Given the description of an element on the screen output the (x, y) to click on. 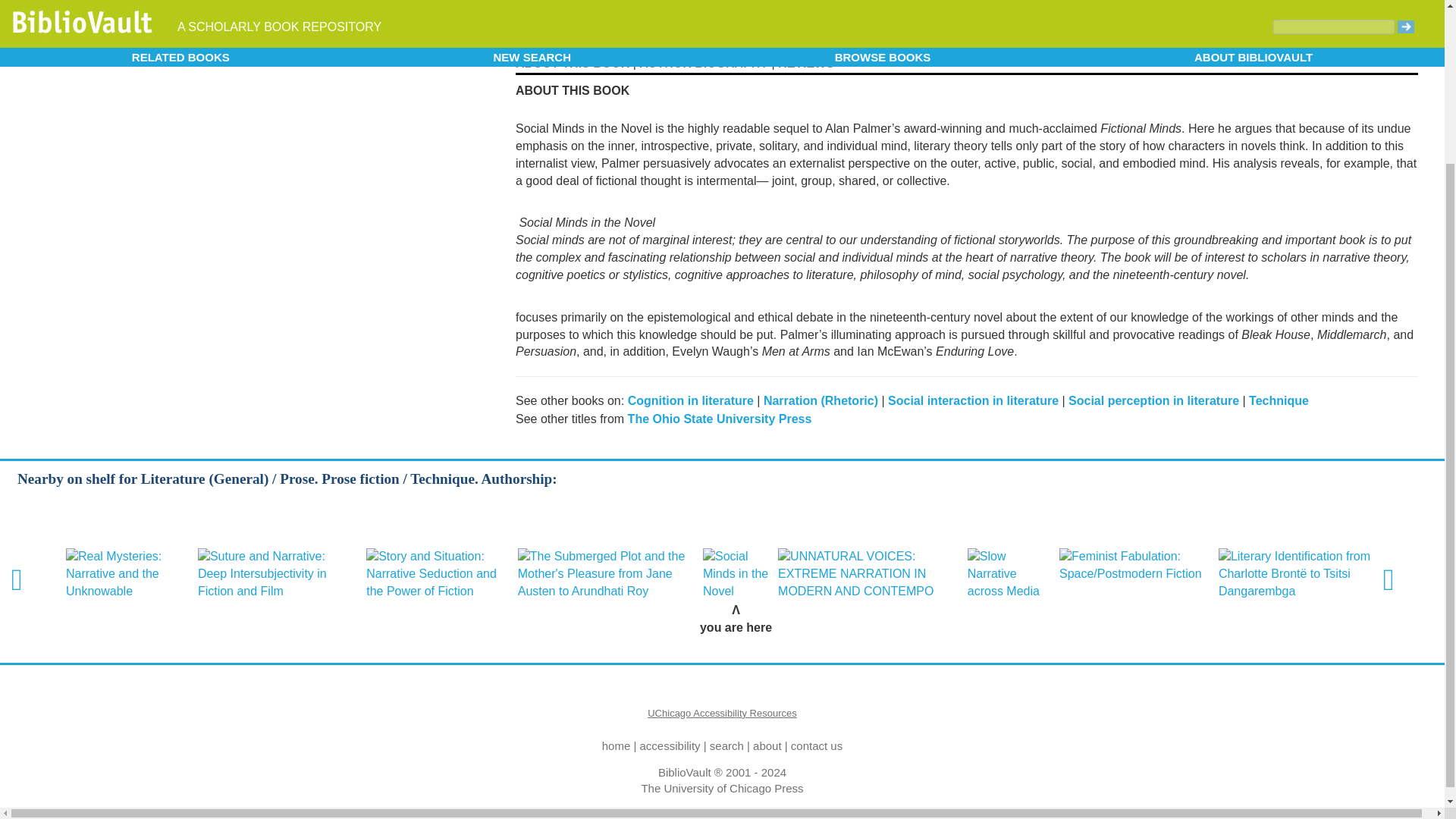
Social interaction in literature (973, 400)
Real Mysteries: Narrative and the Unknowable (127, 574)
Cognition in literature (690, 400)
